Given the description of an element on the screen output the (x, y) to click on. 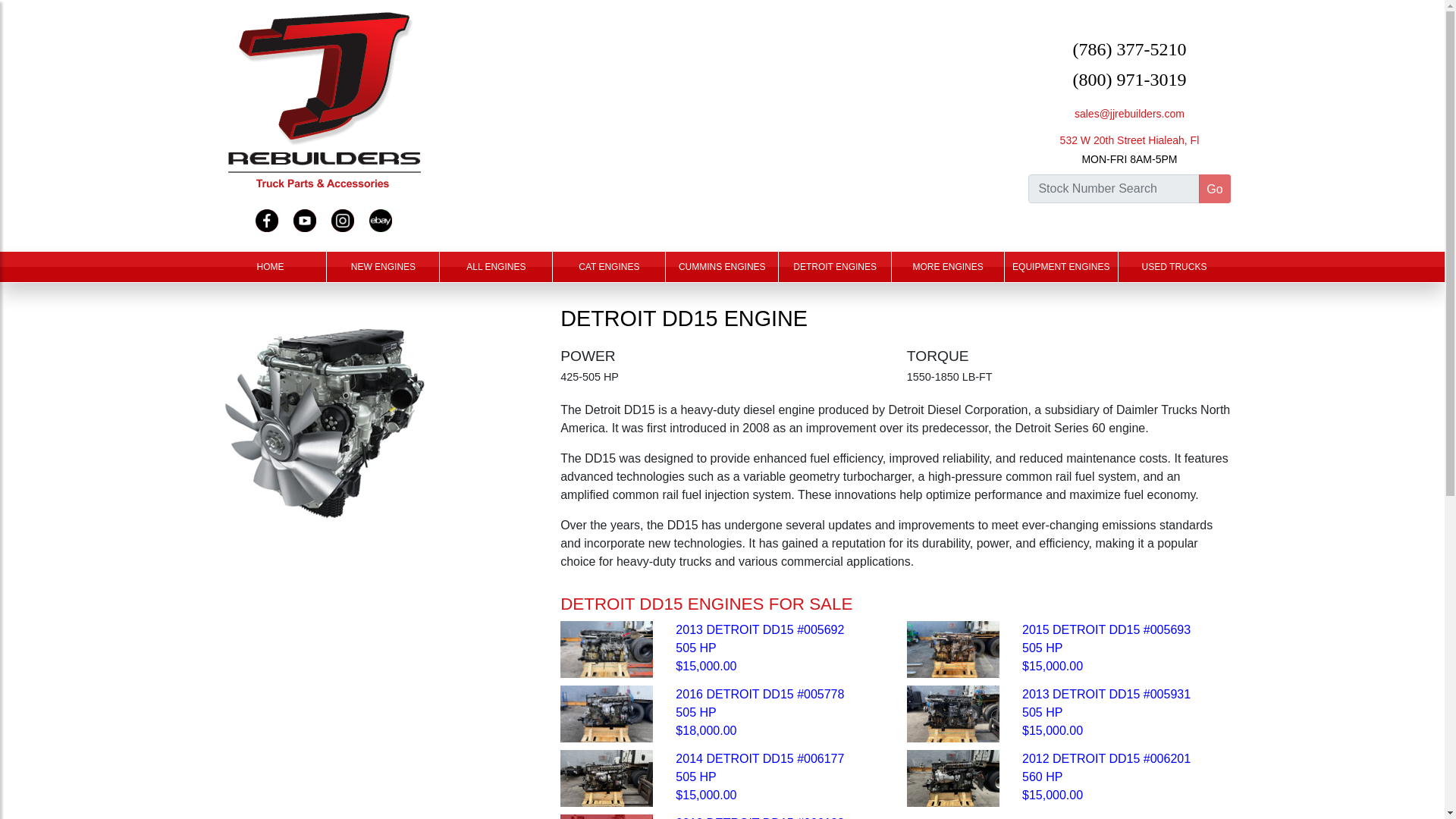
CAT ENGINES (609, 266)
  Go   (1214, 188)
HOME (270, 266)
ALL ENGINES (495, 266)
532 W 20th Street Hialeah, Fl (1129, 139)
NEW ENGINES (382, 266)
